Given the description of an element on the screen output the (x, y) to click on. 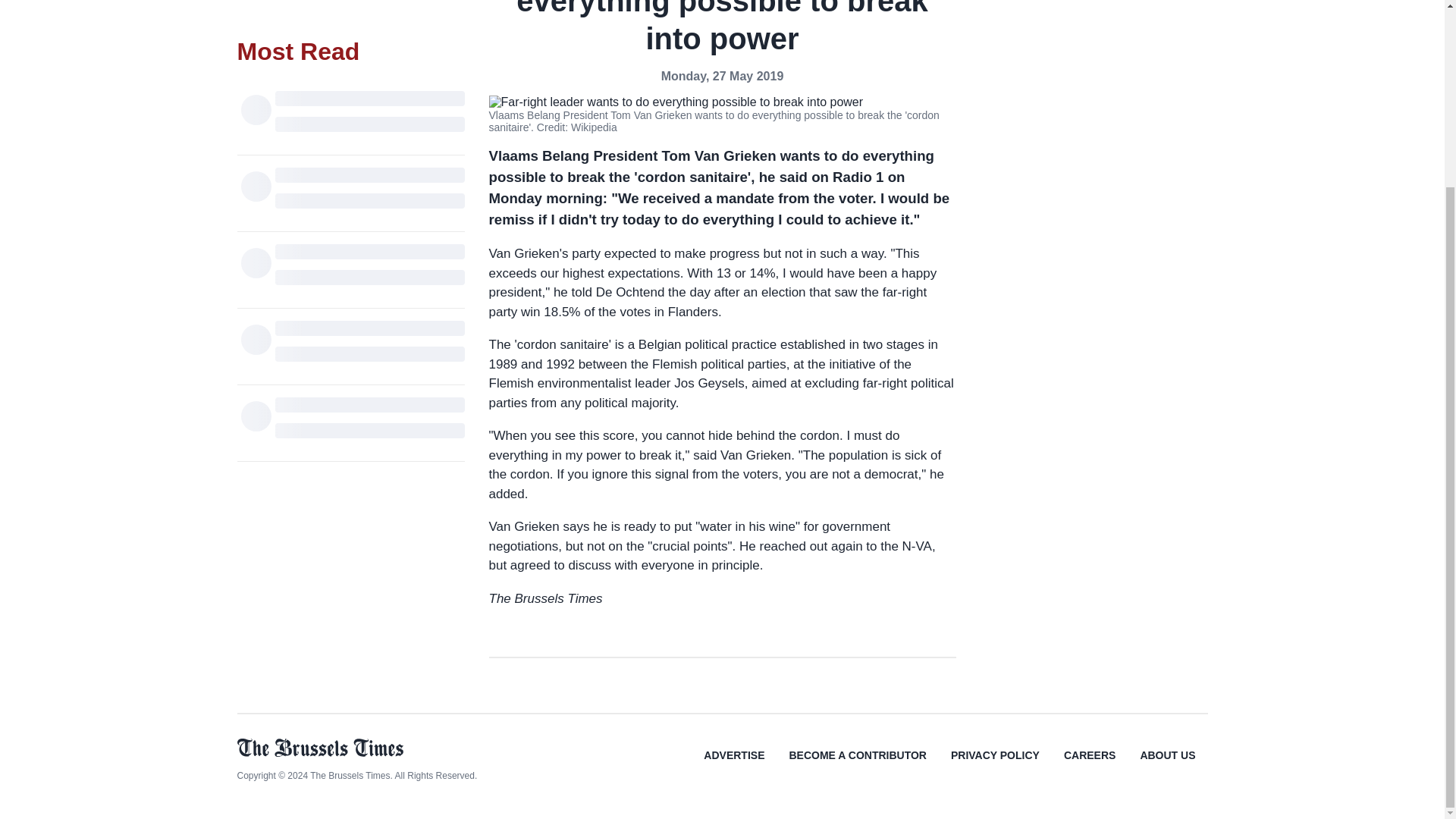
ABOUT US (1166, 766)
ADVERTISE (733, 766)
PRIVACY POLICY (995, 766)
BECOME A CONTRIBUTOR (856, 766)
CAREERS (1088, 766)
